Given the description of an element on the screen output the (x, y) to click on. 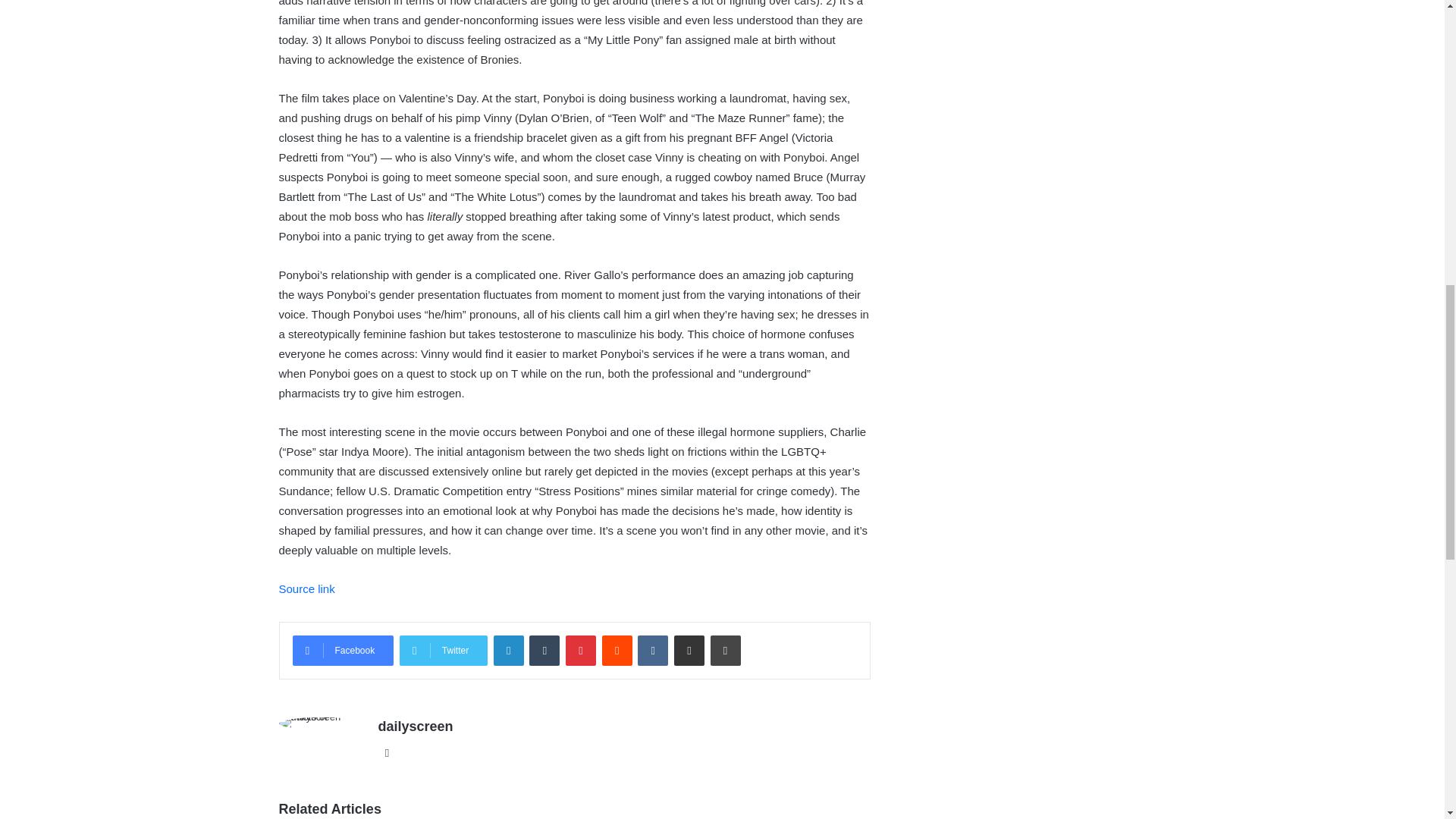
Twitter (442, 650)
Reddit (616, 650)
Facebook (343, 650)
Tumblr (544, 650)
VKontakte (652, 650)
Share via Email (689, 650)
Facebook (343, 650)
Source link (306, 588)
Twitter (442, 650)
Reddit (616, 650)
LinkedIn (508, 650)
Pinterest (580, 650)
Tumblr (544, 650)
dailyscreen (414, 726)
Pinterest (580, 650)
